Given the description of an element on the screen output the (x, y) to click on. 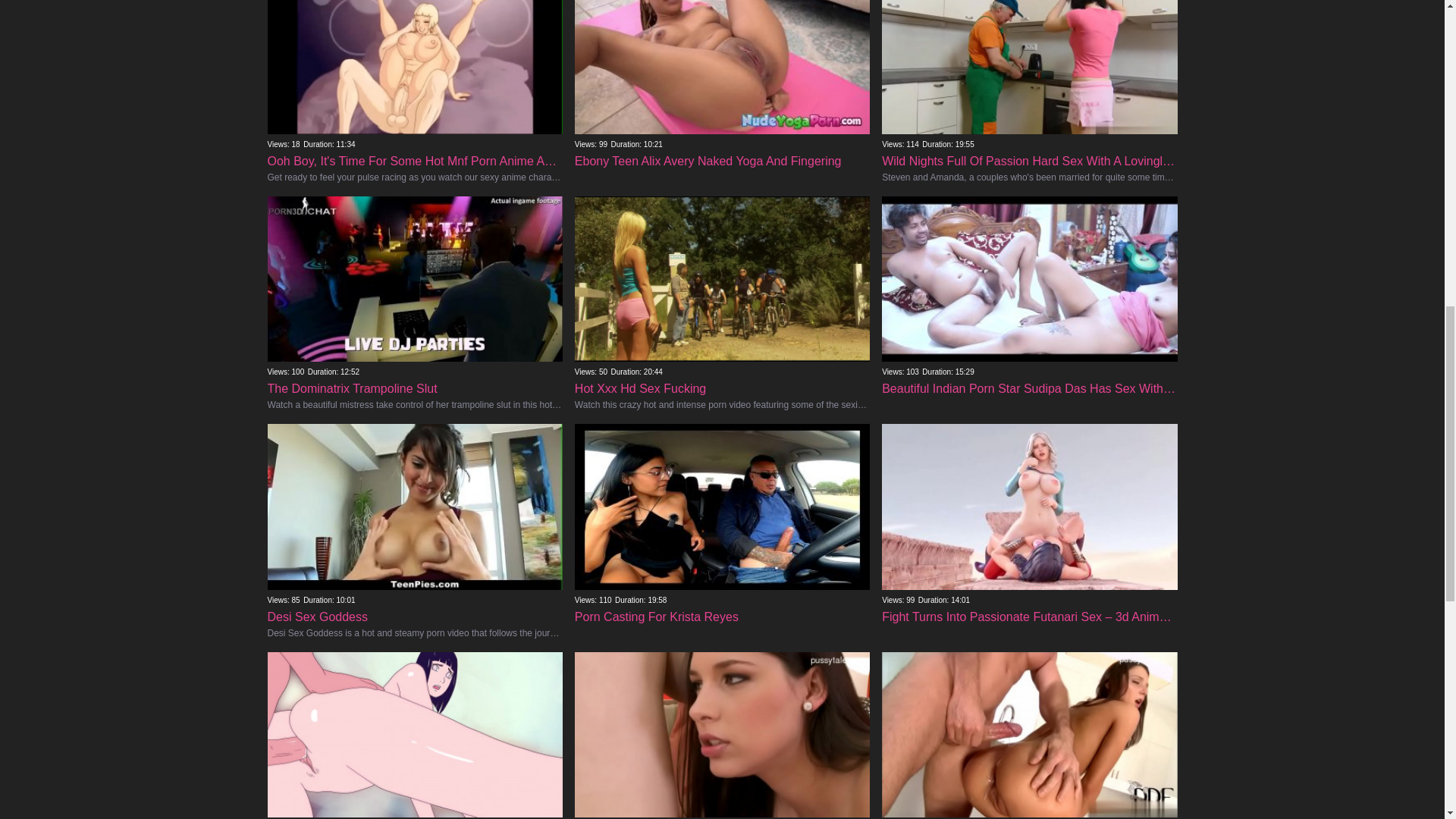
The Dominatrix Trampoline Slut (414, 341)
Porn Casting For Krista Reyes (722, 562)
Hot Xxx Hd Sex Fucking (722, 341)
Ebony Teen Alix Avery Naked Yoga And Fingering (722, 107)
